Given the description of an element on the screen output the (x, y) to click on. 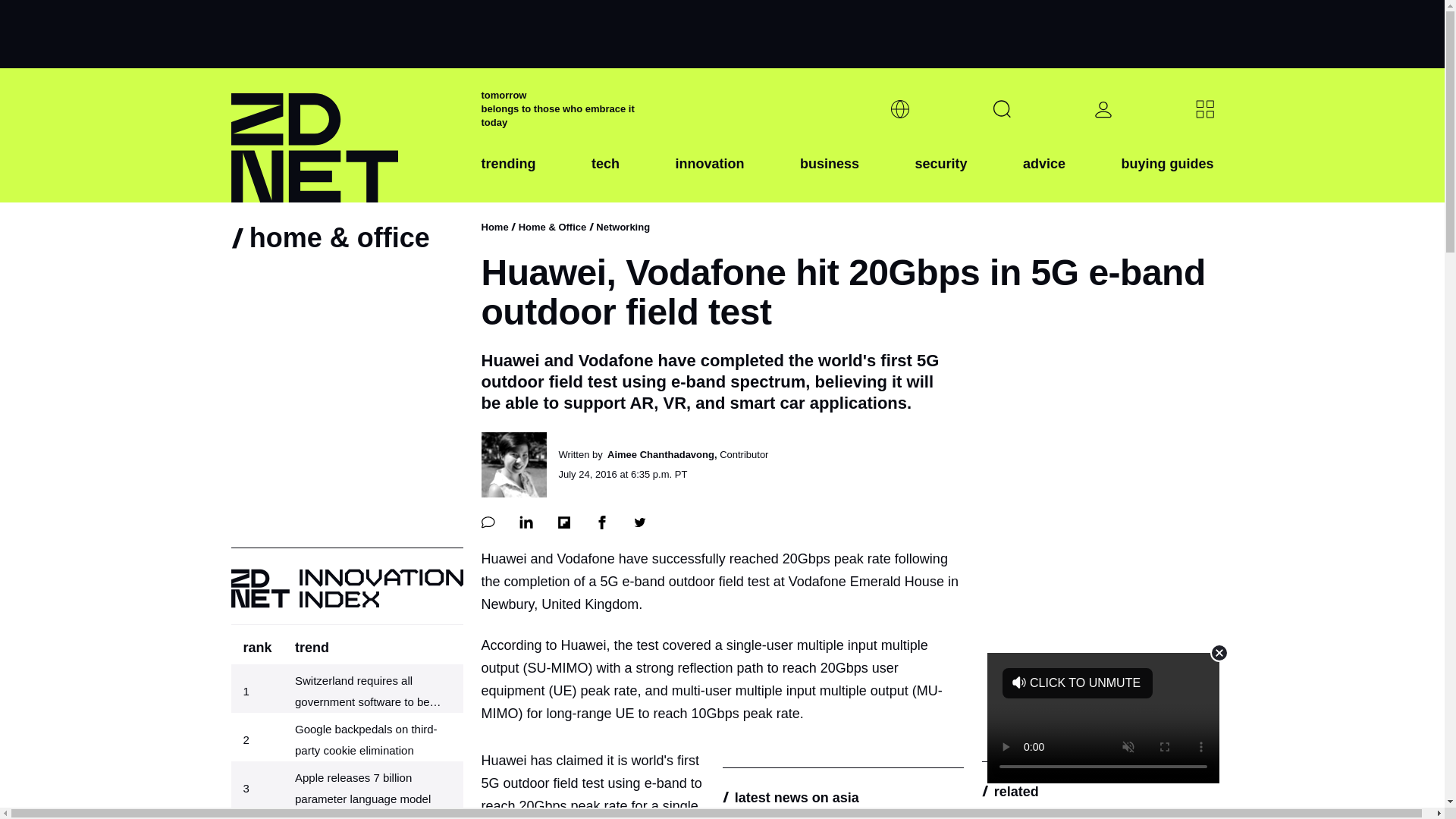
3rd party ad content (721, 33)
ZDNET (346, 134)
Advertisement (1103, 717)
trending (507, 175)
